Given the description of an element on the screen output the (x, y) to click on. 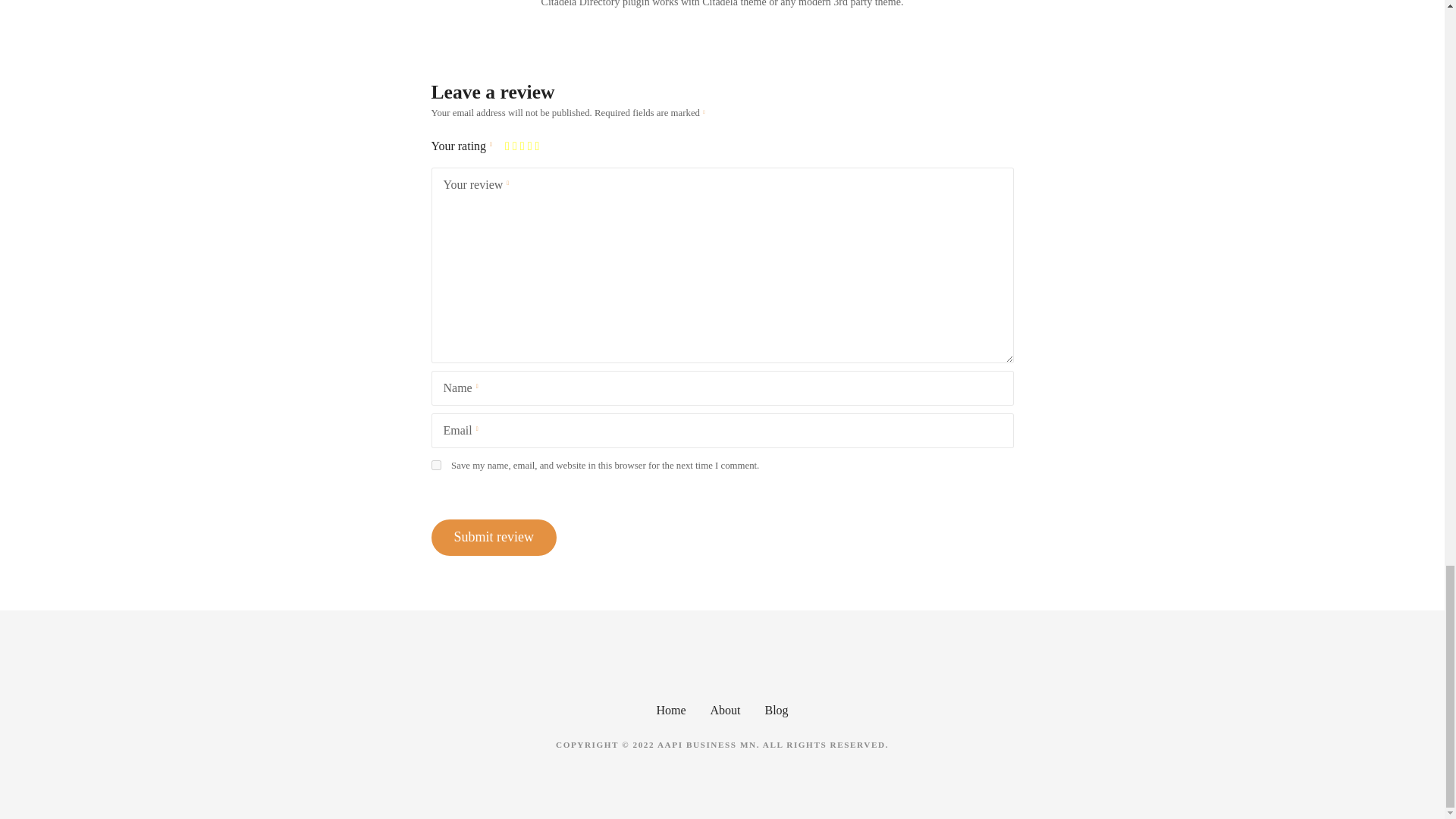
Blog (775, 709)
Please wait until Google reCAPTCHA is loaded. (493, 537)
yes (435, 465)
Home (670, 709)
Submit review (493, 537)
About (724, 709)
Submit review (493, 537)
